Given the description of an element on the screen output the (x, y) to click on. 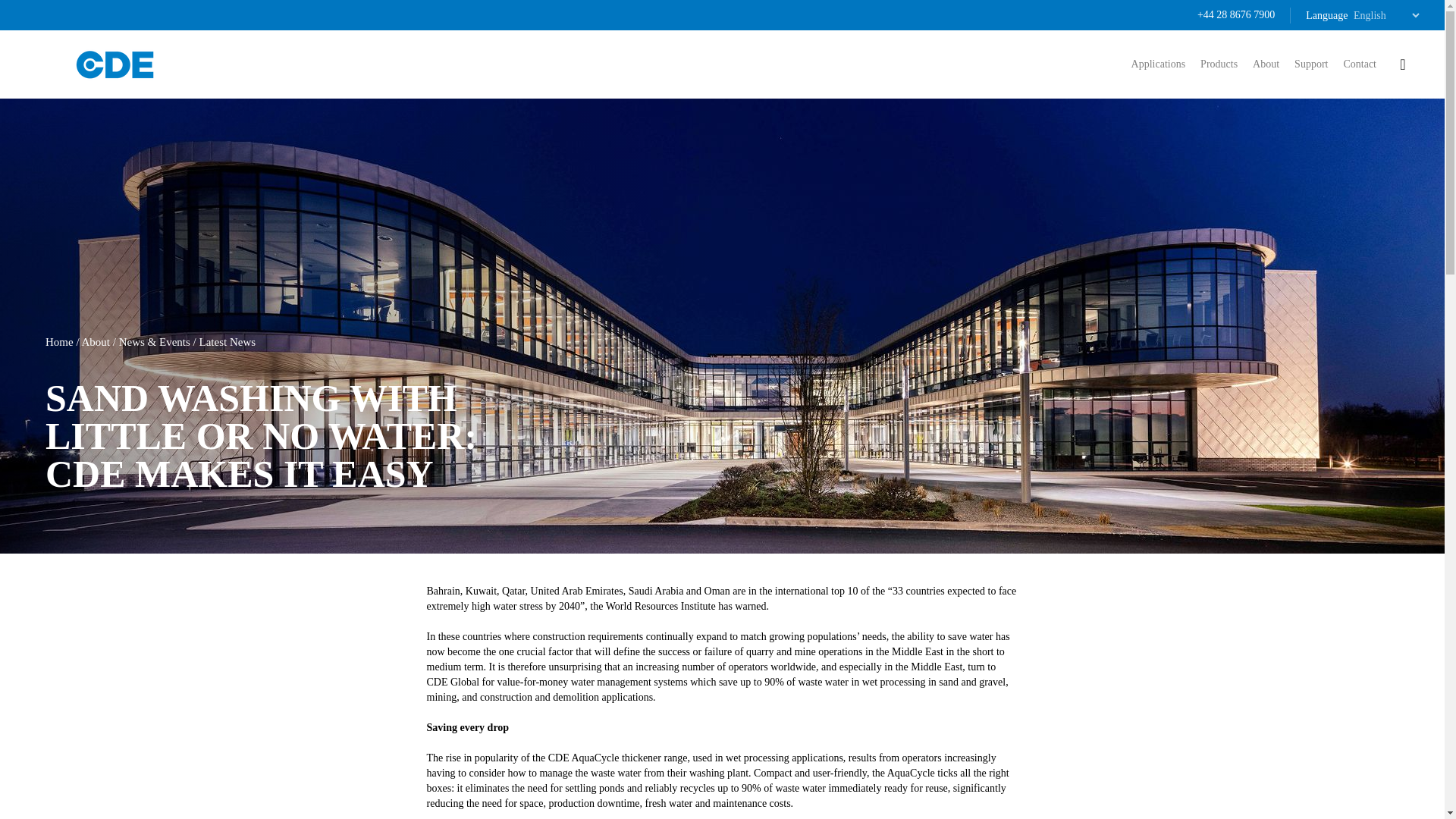
Applications (1158, 64)
